Given the description of an element on the screen output the (x, y) to click on. 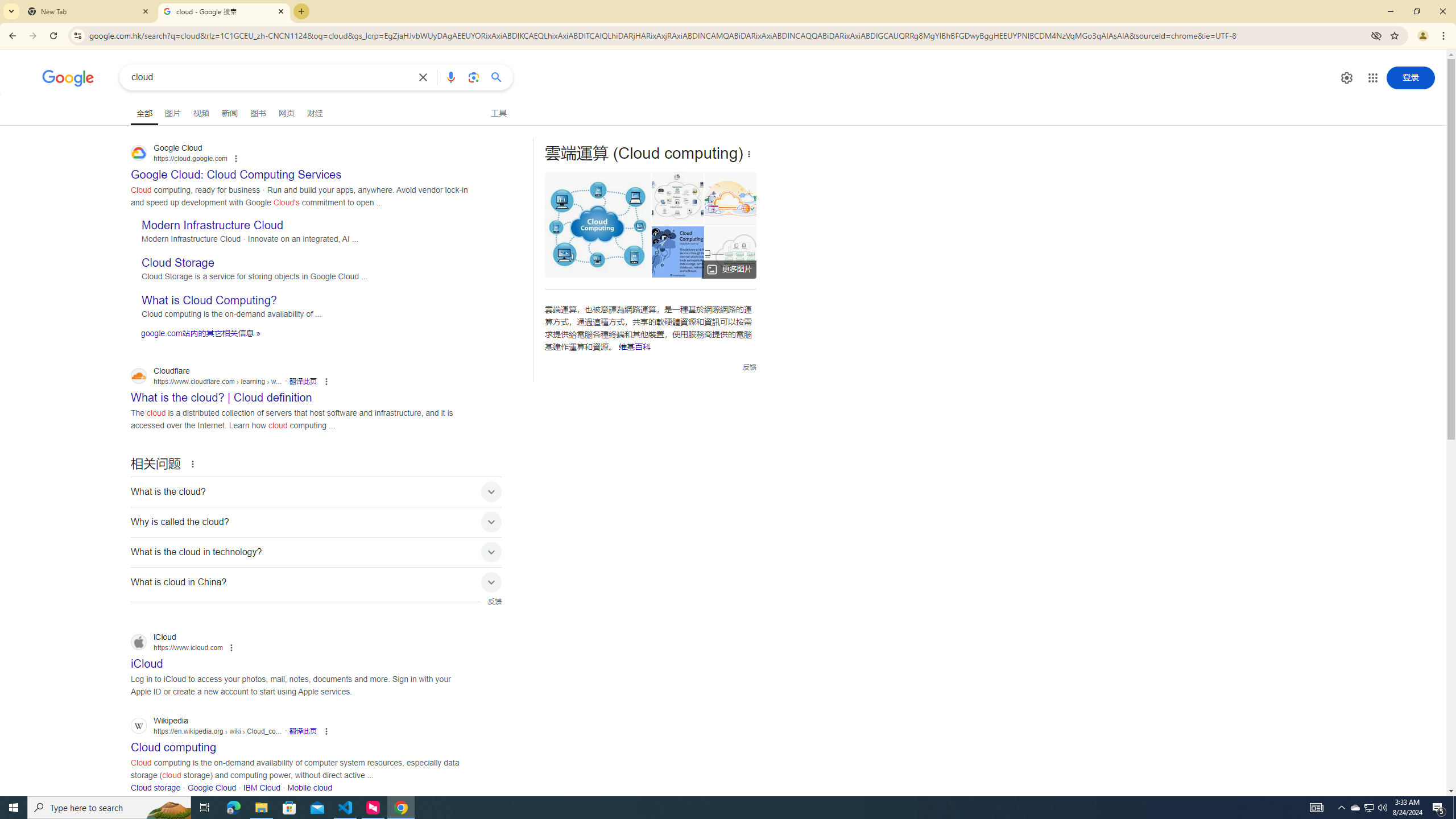
Why is called the cloud? (316, 521)
What is the cloud in technology? (316, 552)
What is the cloud? (316, 491)
